Given the description of an element on the screen output the (x, y) to click on. 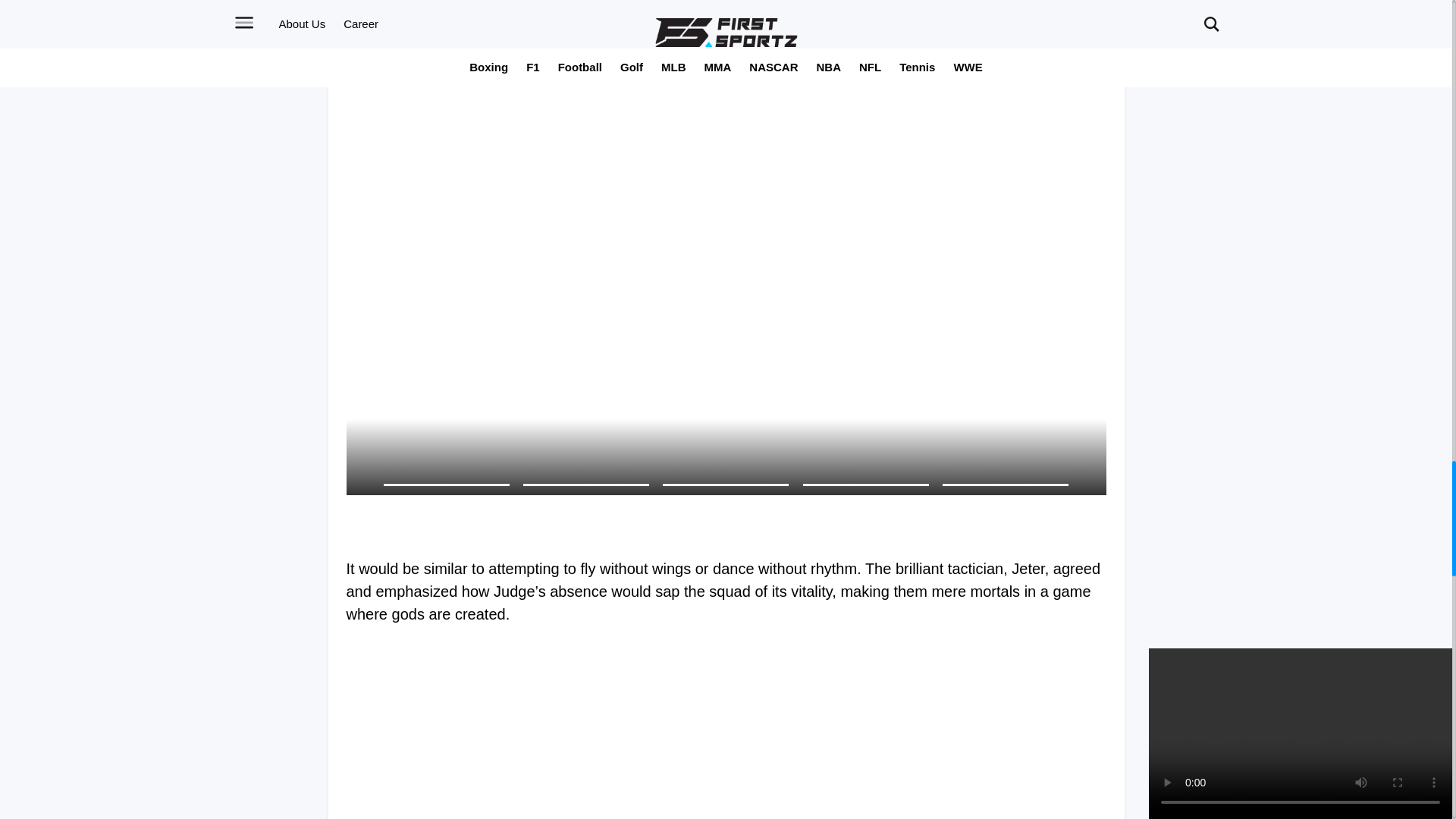
If you own a mouse, play it for 1 minute. (725, 522)
